Given the description of an element on the screen output the (x, y) to click on. 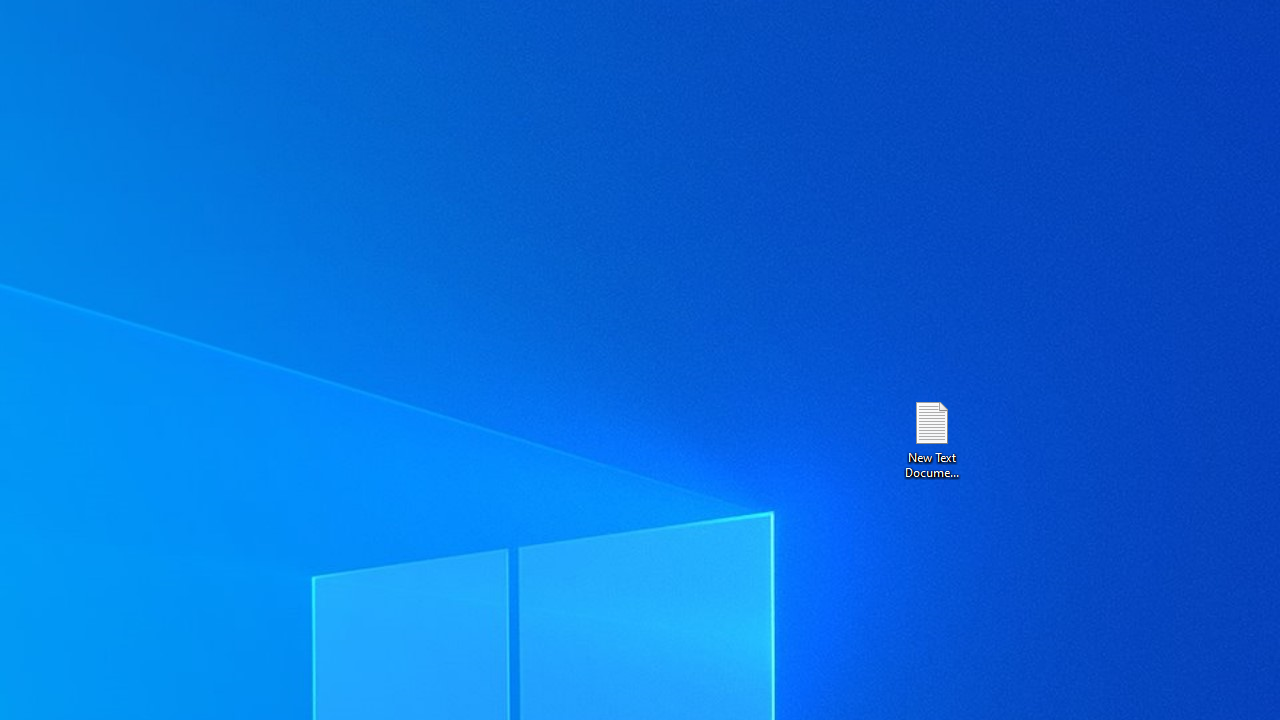
New Text Document (2) (931, 438)
